Given the description of an element on the screen output the (x, y) to click on. 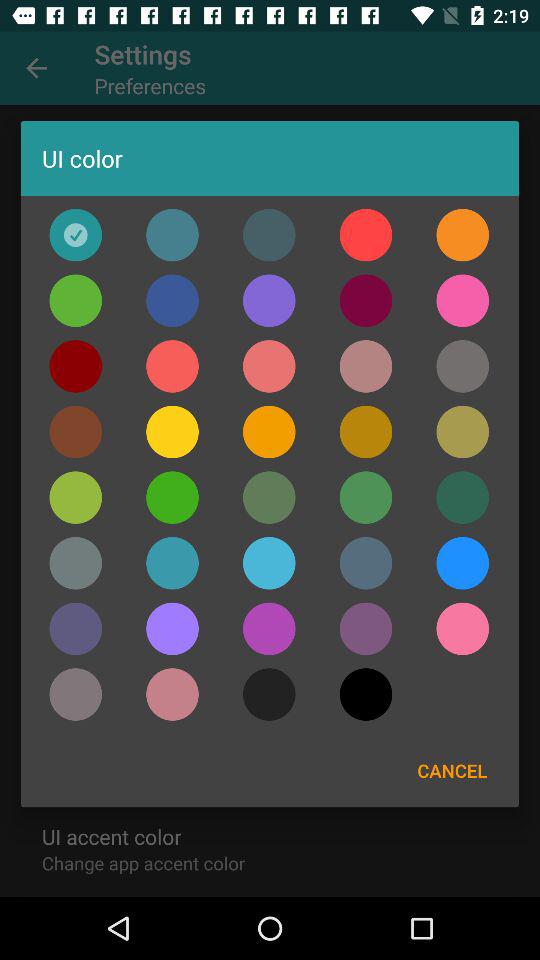
select magenta ui color (462, 300)
